Given the description of an element on the screen output the (x, y) to click on. 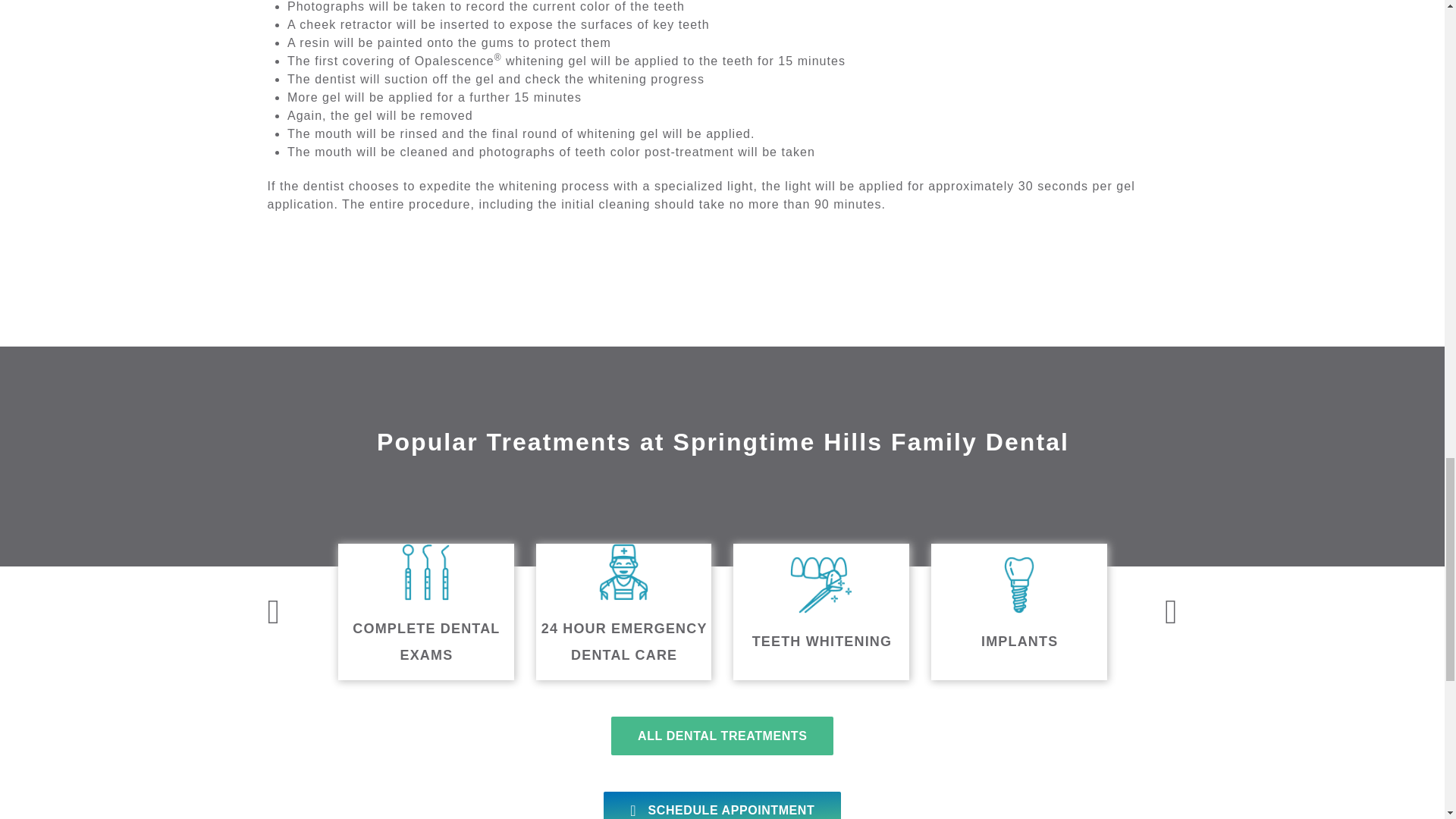
TEETH WHITENING (820, 611)
IMPLANTS (1018, 611)
24 HOUR EMERGENCY DENTAL CARE (623, 611)
COMPLETE DENTAL EXAMS (425, 611)
